Given the description of an element on the screen output the (x, y) to click on. 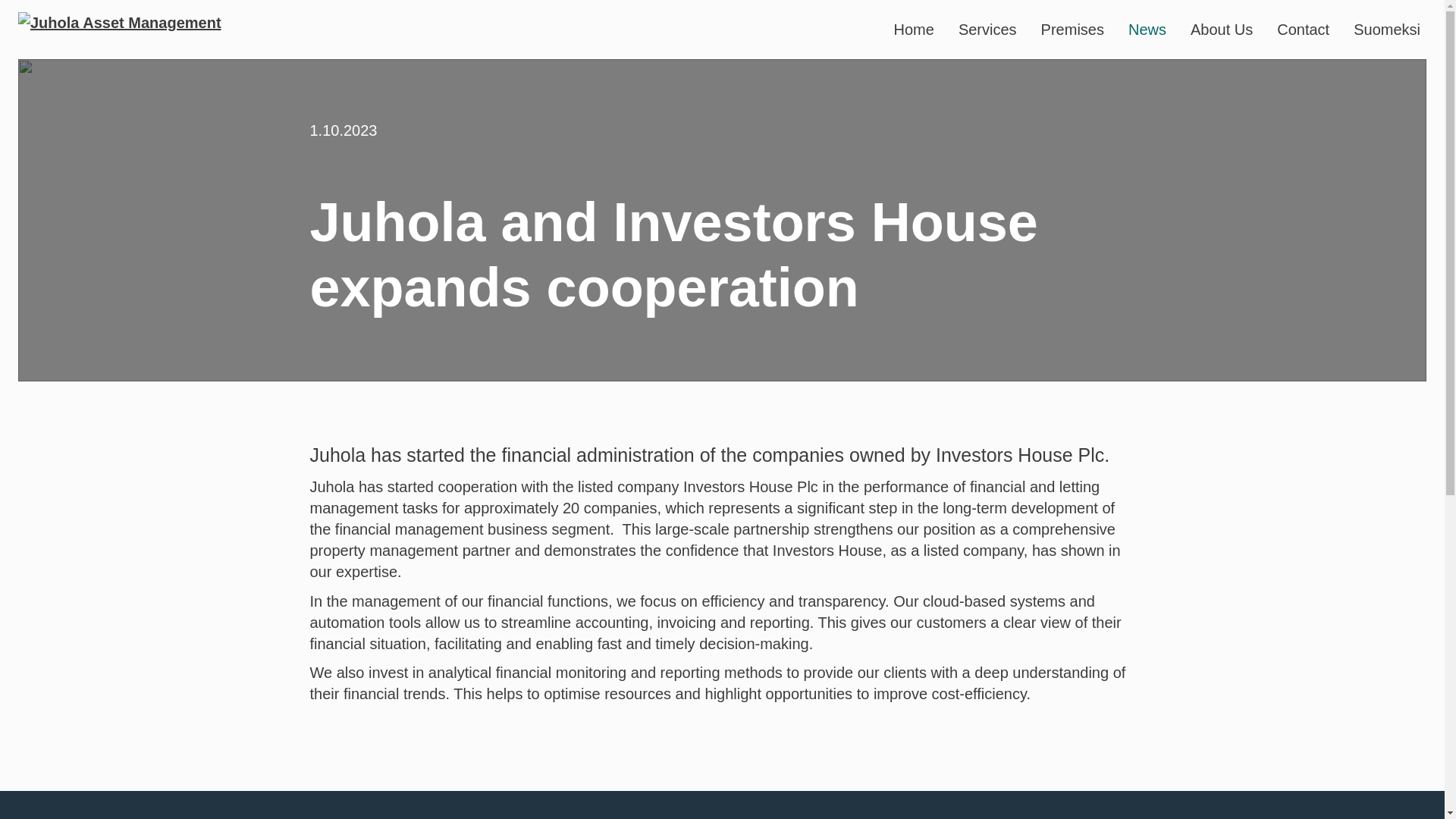
About Us (1222, 29)
Suomeksi (1387, 29)
News (1147, 29)
Services (987, 29)
Premises (1072, 29)
Home (914, 29)
Contact (1303, 29)
